Given the description of an element on the screen output the (x, y) to click on. 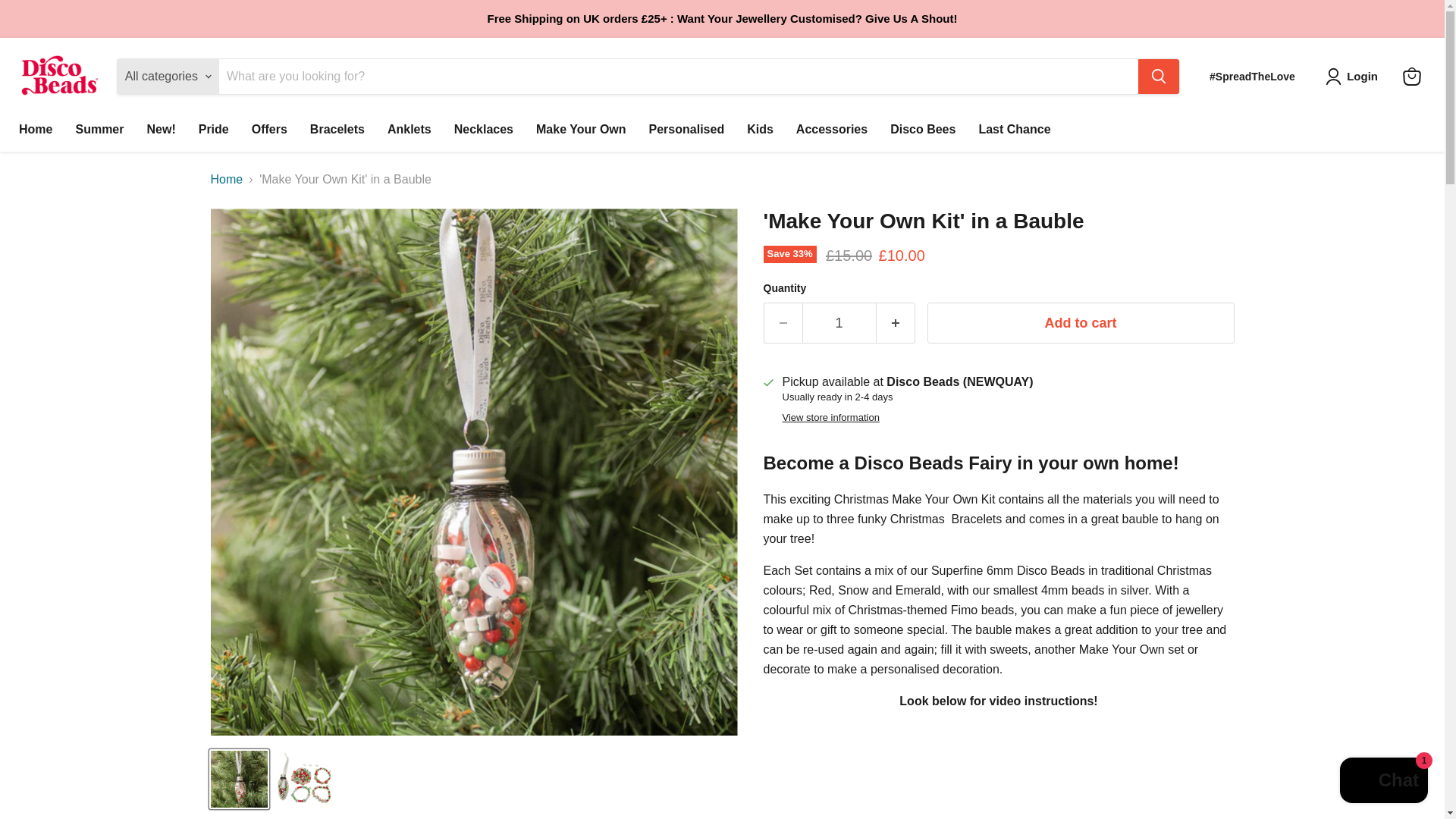
Necklaces (483, 129)
Anklets (408, 129)
New! (160, 129)
1 (839, 322)
Summer (99, 129)
Personalised (686, 129)
Last Chance (1013, 129)
View cart (1411, 76)
Pride (213, 129)
Home (35, 129)
Offers (269, 129)
Accessories (831, 129)
Login (1354, 76)
Kids (759, 129)
Shopify online store chat (1383, 781)
